Given the description of an element on the screen output the (x, y) to click on. 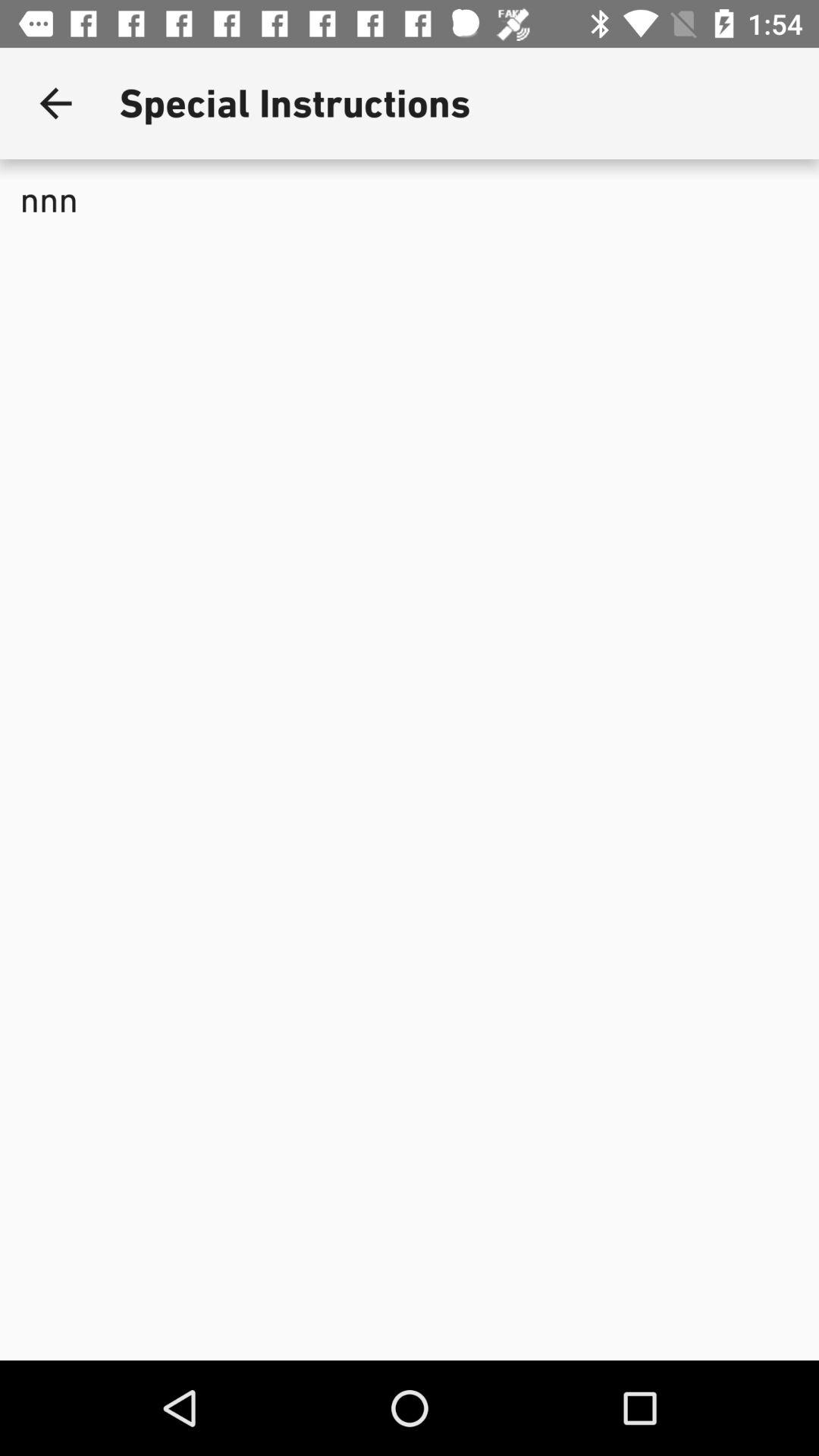
turn on item above nnn (55, 103)
